Given the description of an element on the screen output the (x, y) to click on. 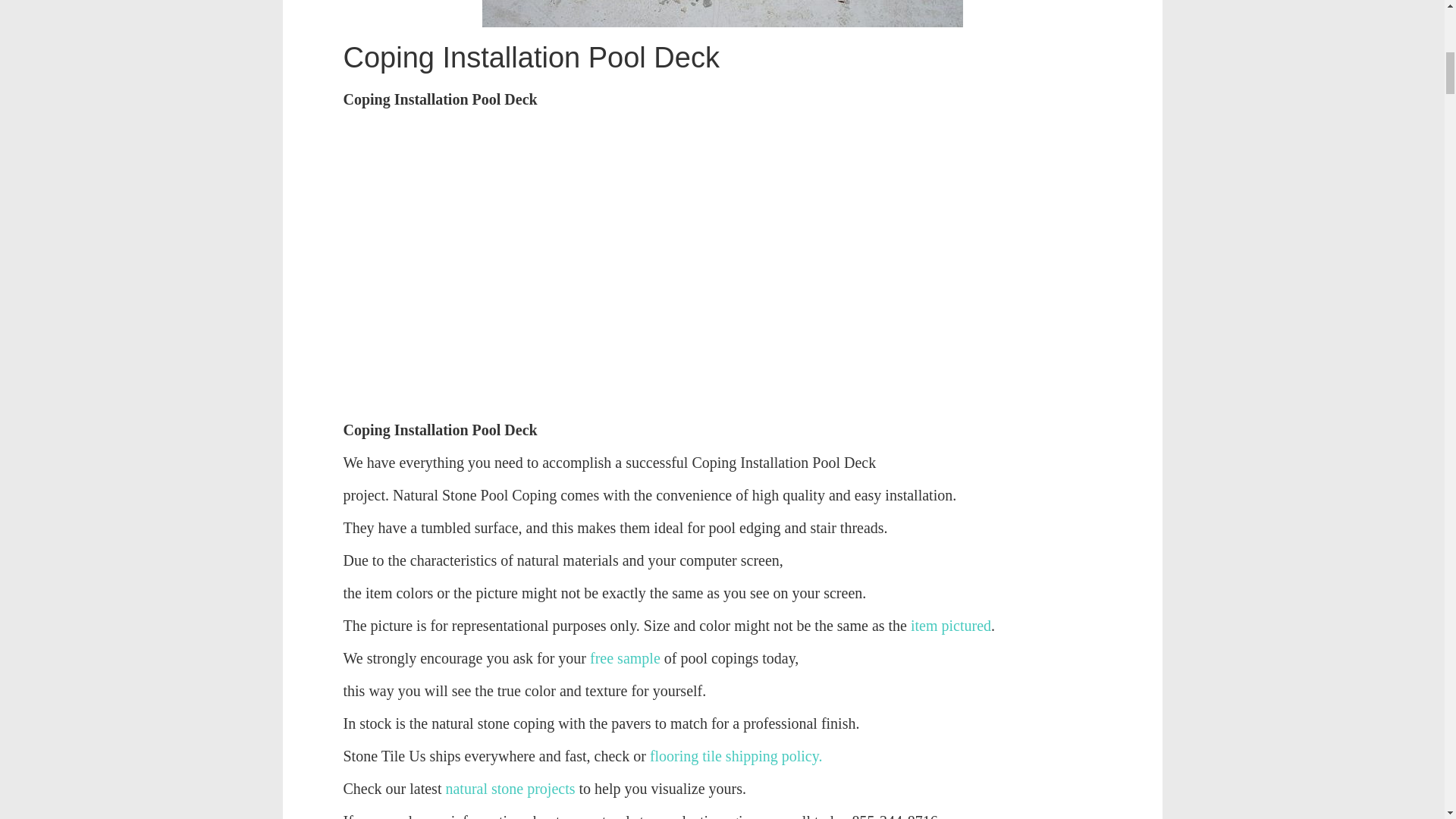
natural stone projects (510, 788)
flooring tile shipping policy.  (738, 755)
Coping Installation Pool Deck (721, 13)
free sample  (626, 658)
item pictured (951, 625)
